Given the description of an element on the screen output the (x, y) to click on. 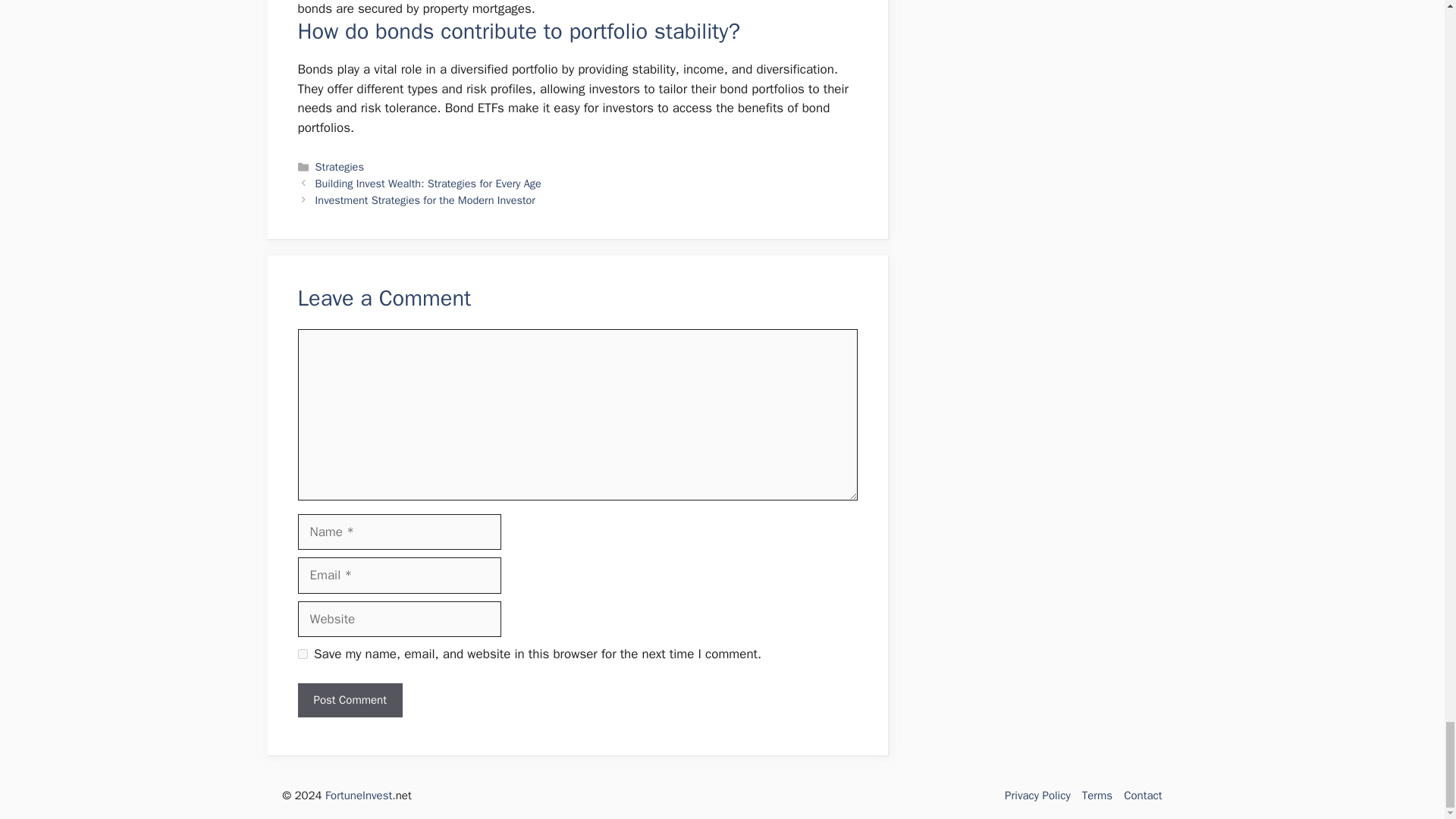
Post Comment (349, 700)
yes (302, 654)
Building Invest Wealth: Strategies for Every Age (428, 183)
Post Comment (349, 700)
Investment Strategies for the Modern Investor (425, 200)
Strategies (339, 166)
